Given the description of an element on the screen output the (x, y) to click on. 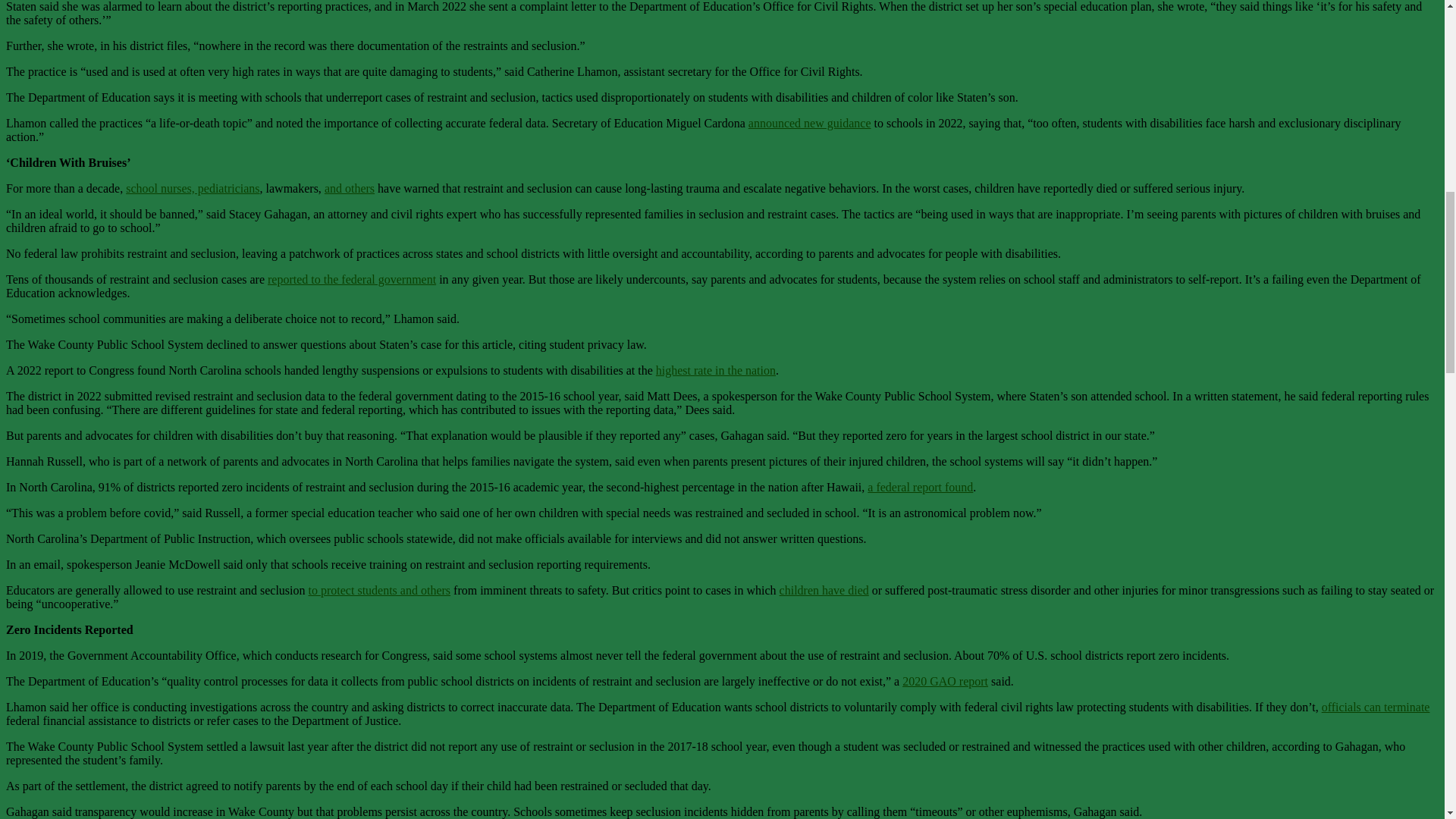
and others (349, 187)
announced new guidance (809, 123)
school nurses, pediatricians (192, 187)
reported to the federal government (351, 278)
